Given the description of an element on the screen output the (x, y) to click on. 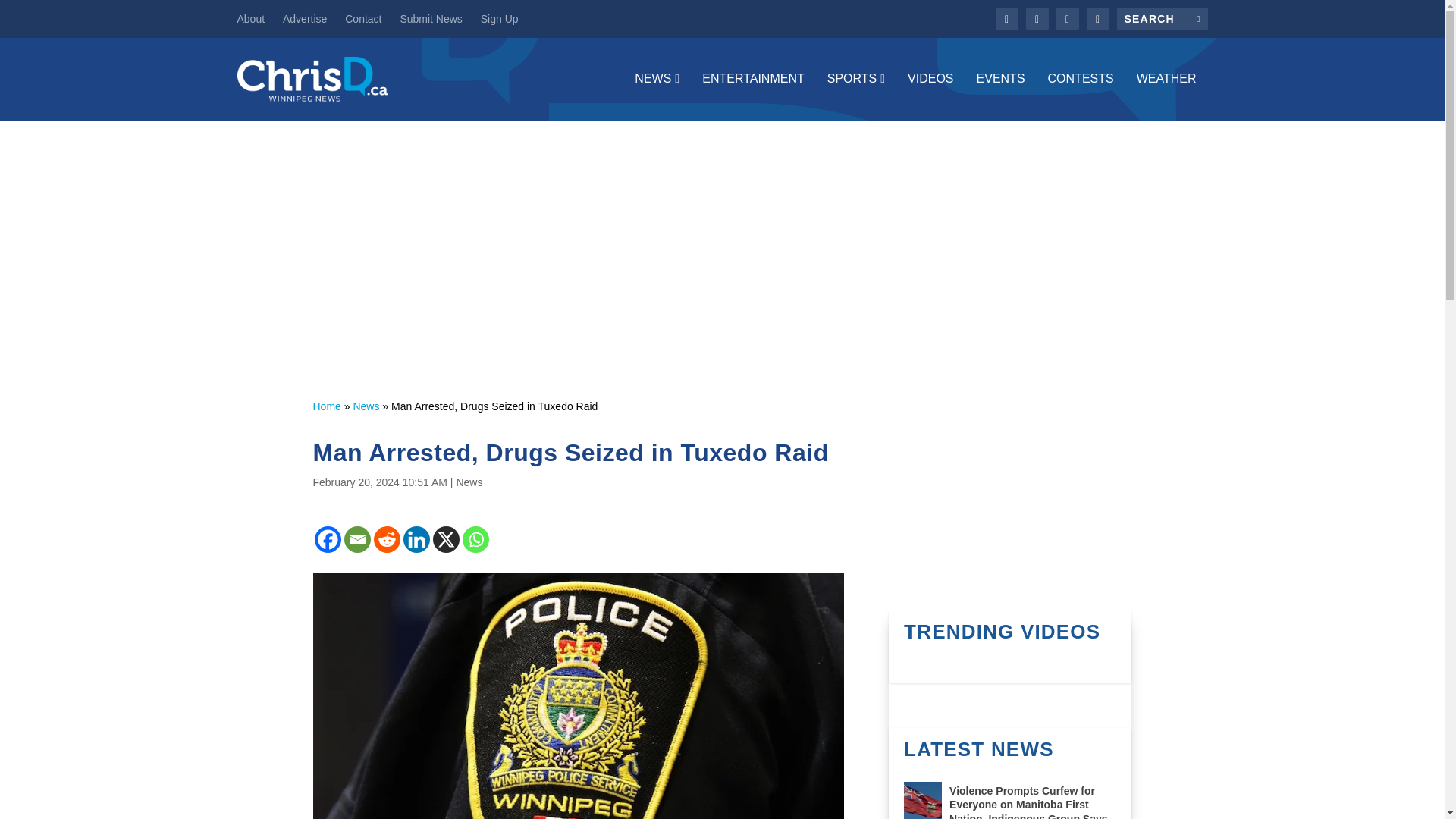
CONTESTS (1080, 96)
Whatsapp (476, 539)
Contact (363, 18)
Advertise (304, 18)
Sign Up (499, 18)
Search for: (1161, 18)
Reddit (385, 539)
Submit News (429, 18)
SPORTS (856, 96)
